Given the description of an element on the screen output the (x, y) to click on. 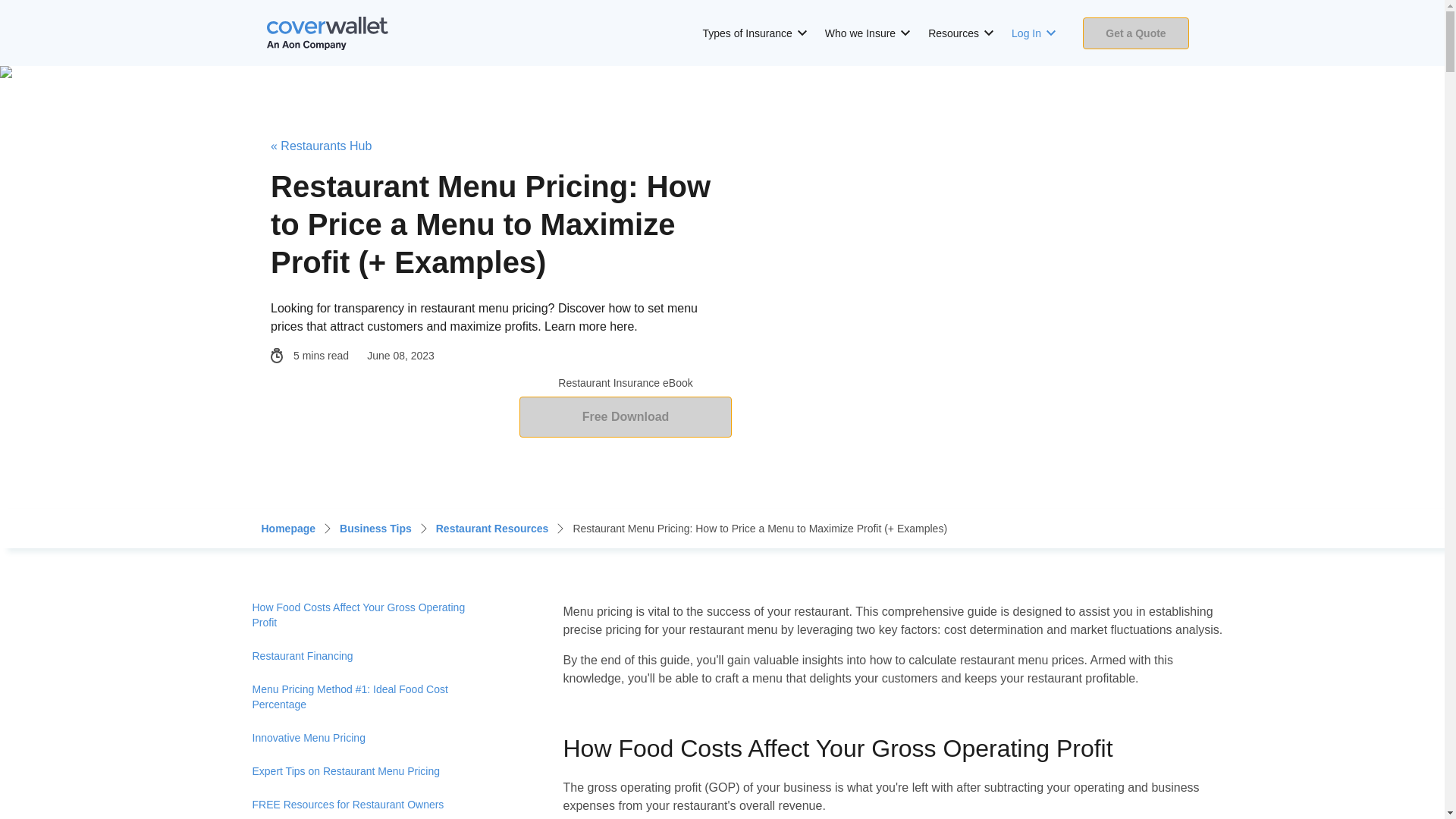
Get a Quote (1136, 32)
Restaurant Financing (369, 655)
Free Download (625, 417)
Innovative Menu Pricing (369, 737)
FREE Resources for Restaurant Owners (369, 803)
Restaurant Resources (491, 528)
Expert Tips on Restaurant Menu Pricing (369, 770)
Homepage (287, 528)
How Food Costs Affect Your Gross Operating Profit (369, 614)
Business Tips (375, 528)
